Given the description of an element on the screen output the (x, y) to click on. 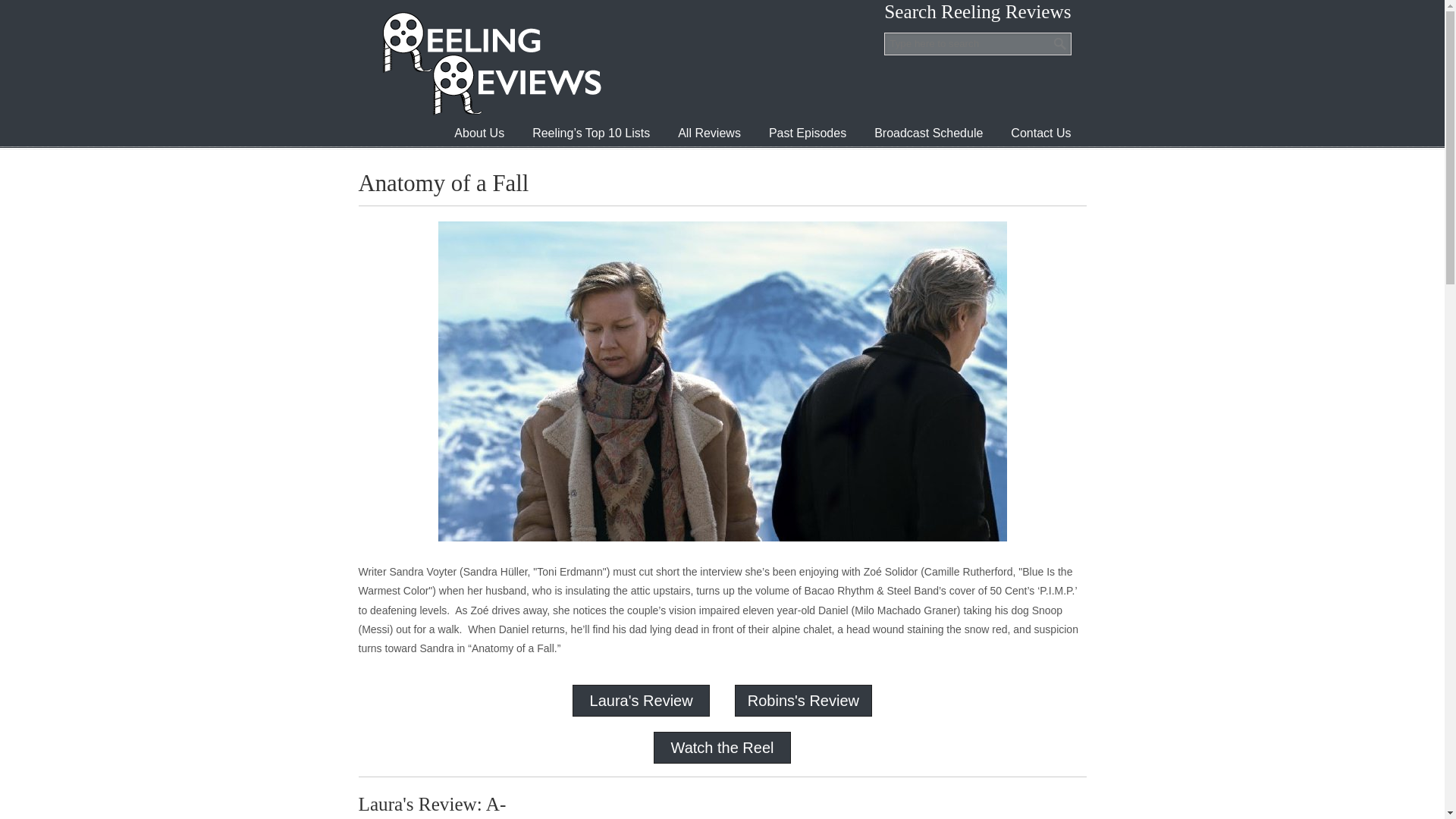
Reeling Reviews (489, 63)
About Us (479, 133)
Broadcast Schedule (928, 133)
Contact Us (1040, 133)
All Reviews (708, 133)
Laura's Review (641, 700)
Watch the Reel (721, 747)
Reeling Reviews (489, 63)
Past Episodes (807, 133)
Robins's Review (803, 700)
